Given the description of an element on the screen output the (x, y) to click on. 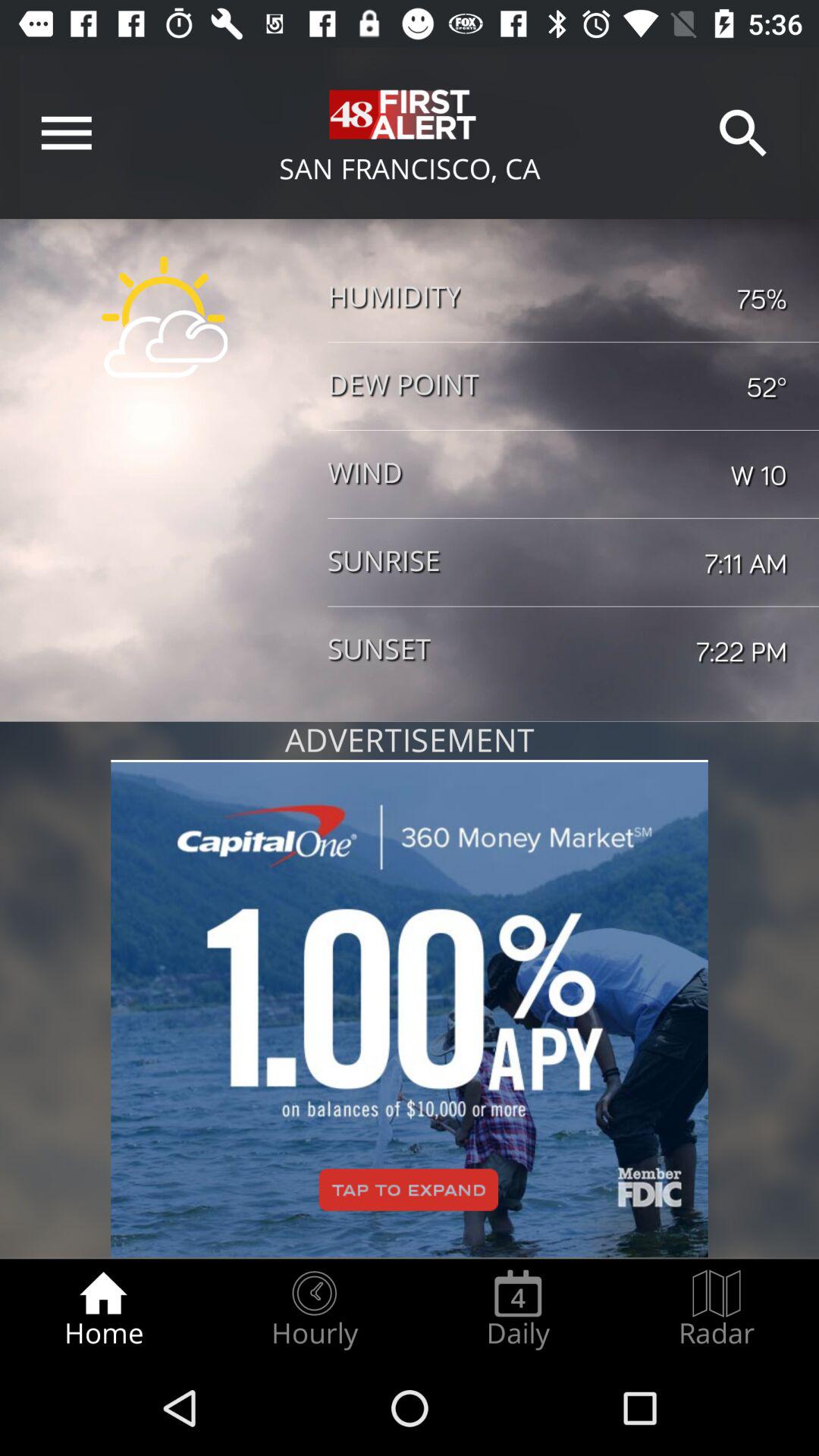
click the icon next to the home item (314, 1309)
